Given the description of an element on the screen output the (x, y) to click on. 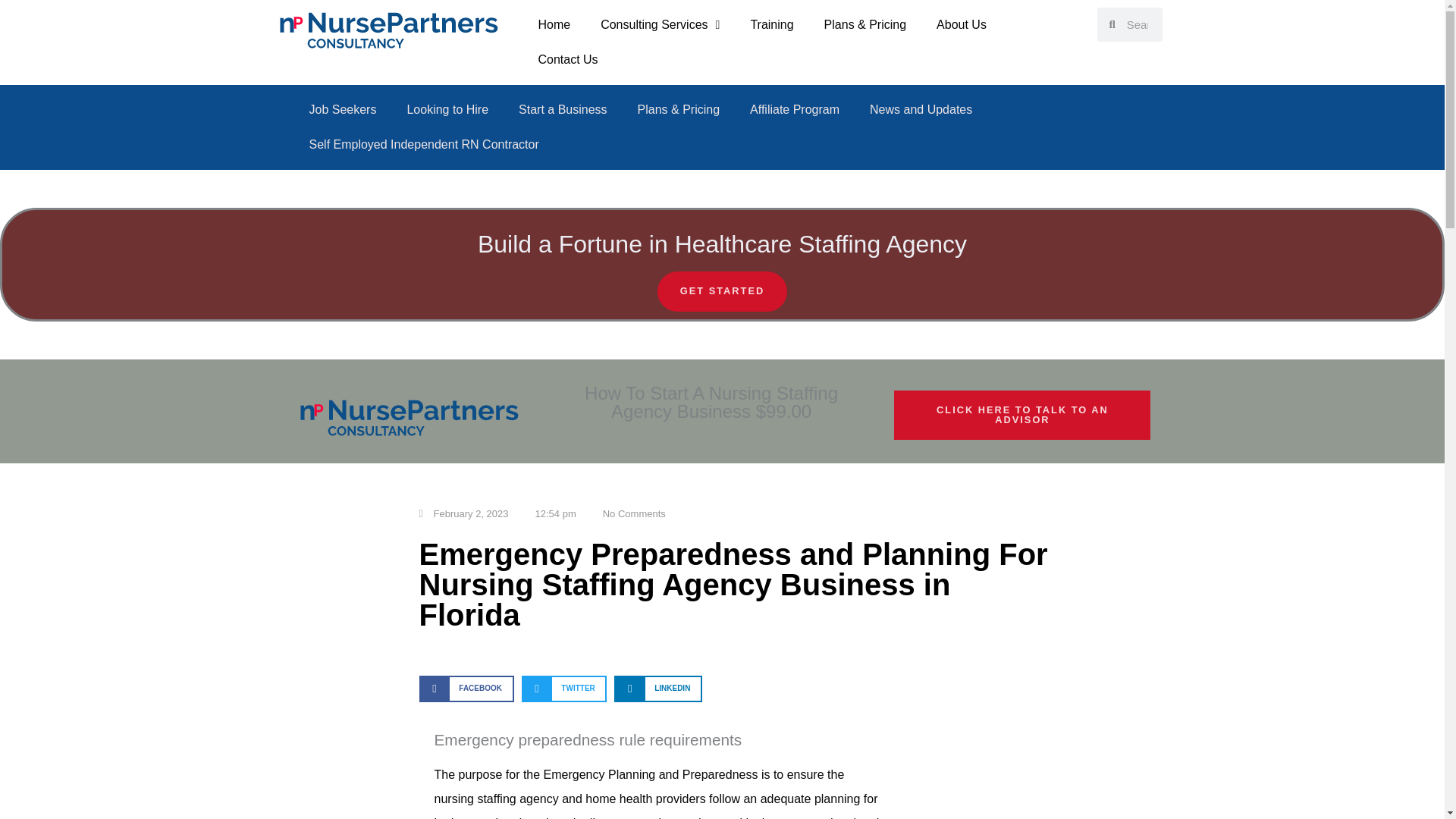
Affiliate Program (794, 109)
Looking to Hire (447, 109)
Start a Business (563, 109)
Self Employed Independent RN Contractor (424, 144)
Training (771, 24)
Home (553, 24)
Contact Us (567, 59)
Consulting Services (660, 24)
Job Seekers (342, 109)
News and Updates (920, 109)
